Given the description of an element on the screen output the (x, y) to click on. 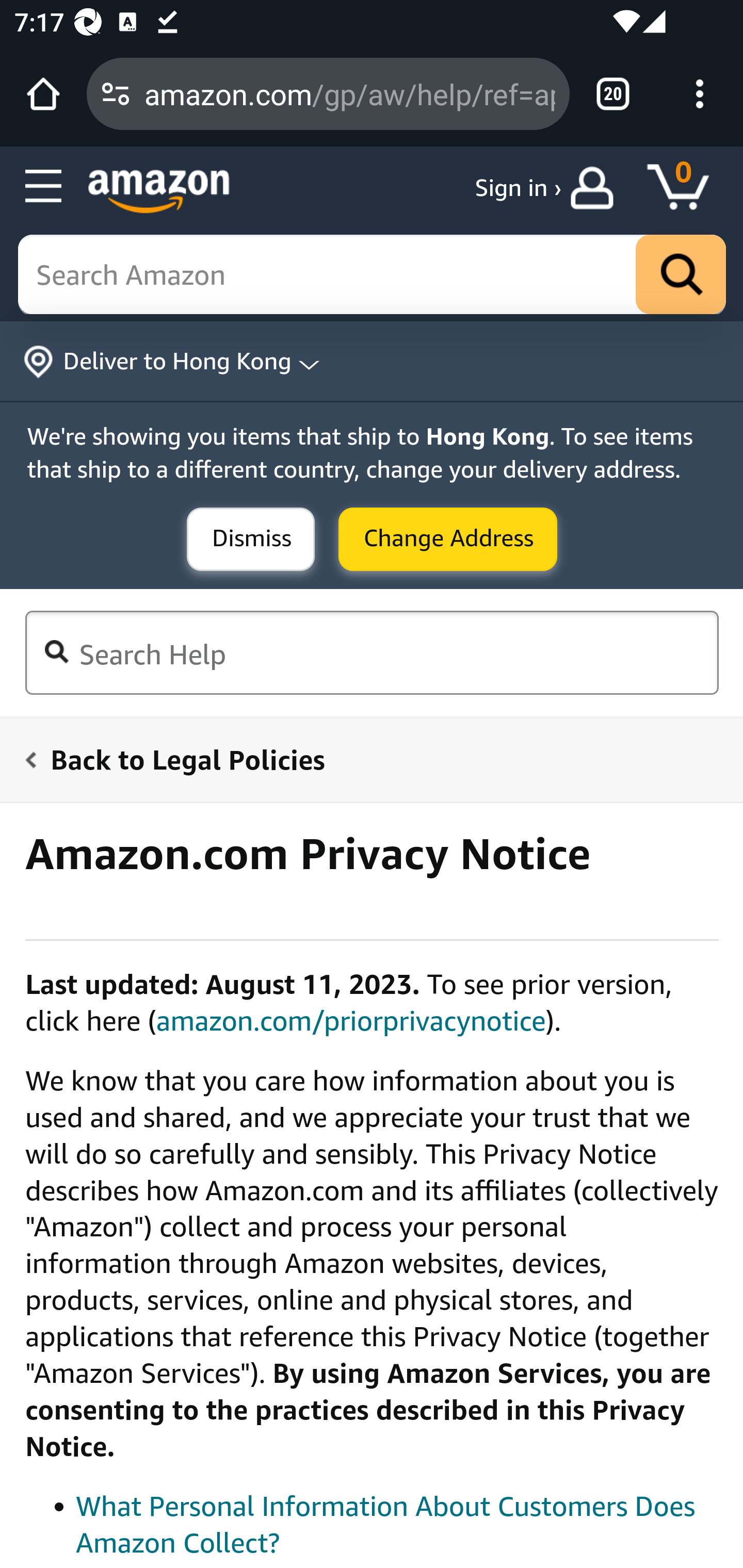
Open the home page (43, 93)
Connection is secure (115, 93)
Switch or close tabs (612, 93)
Customize and control Google Chrome (699, 93)
Open Menu (44, 187)
Sign in › (518, 188)
your account (596, 188)
Cart 0 (687, 188)
Amazon (158, 191)
Go (681, 275)
Submit (250, 539)
Submit (447, 539)
Back to Legal Policies (359, 758)
amazon.com/priorprivacynotice (350, 1020)
